Given the description of an element on the screen output the (x, y) to click on. 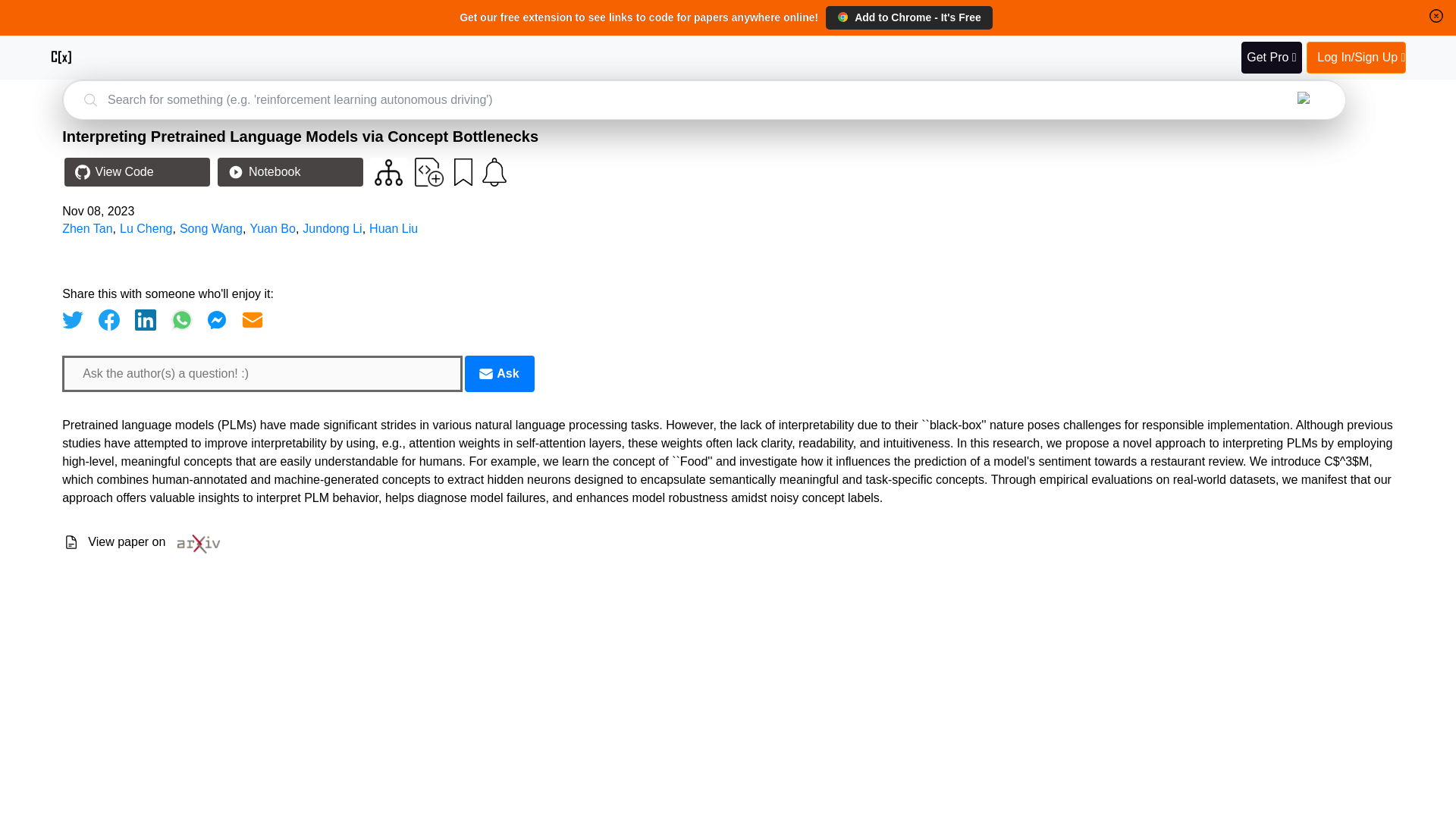
View Code (136, 172)
Share via Email (252, 319)
Lu Cheng (145, 228)
Email Icon Ask (499, 373)
Ask any Qs from the author (499, 373)
Contribute your code for this paper to the community (429, 172)
Song Wang (211, 228)
Add to Chrome - It's Free (908, 17)
Jundong Li (331, 228)
Zhen Tan (87, 228)
Huan Liu (393, 228)
Notebook (289, 172)
Yuan Bo (271, 228)
Email Icon (486, 373)
View code for similar papers (388, 171)
